Given the description of an element on the screen output the (x, y) to click on. 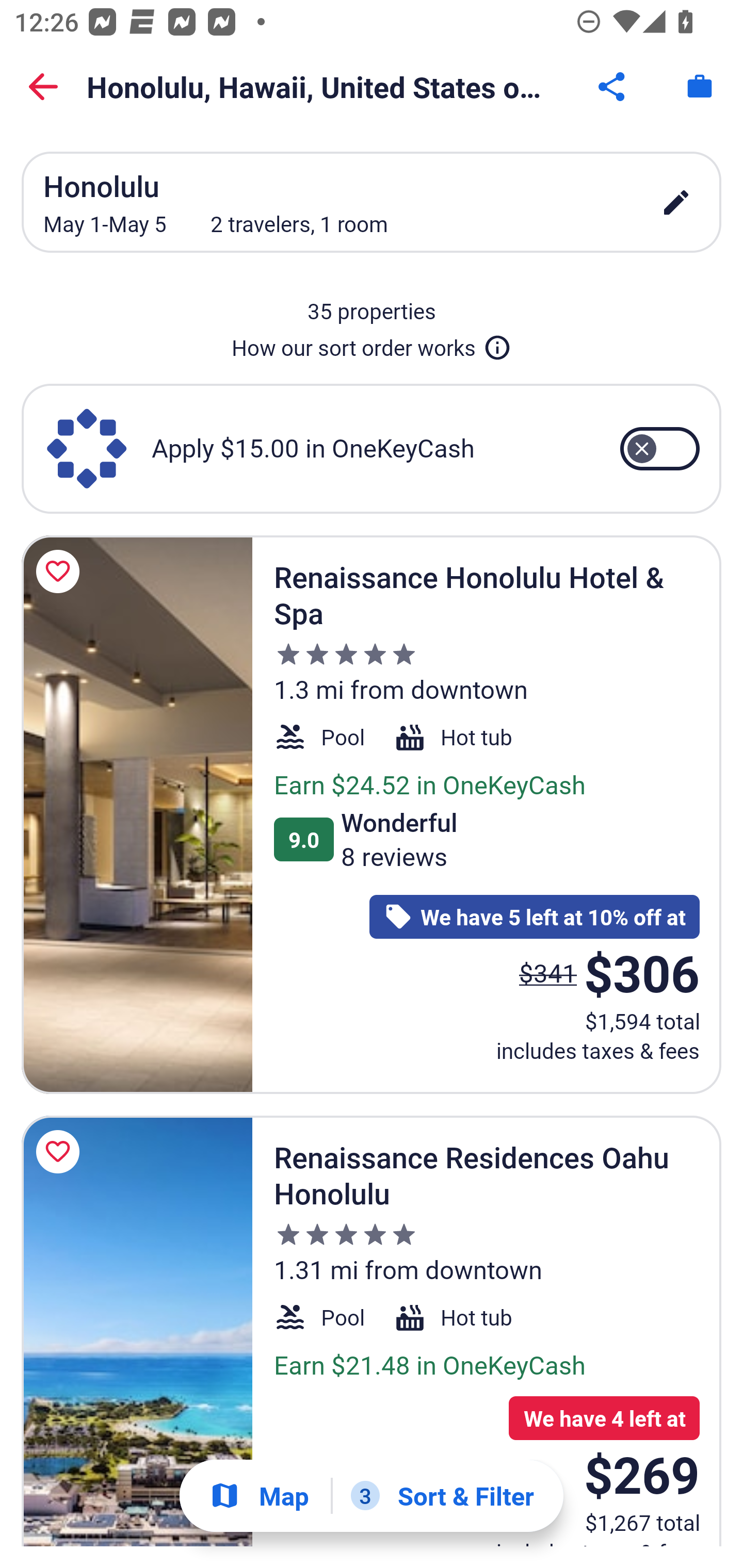
Back (43, 86)
Share Button (612, 86)
Trips. Button (699, 86)
Honolulu May 1-May 5 2 travelers, 1 room edit (371, 202)
How our sort order works (371, 344)
Save Renaissance Honolulu Hotel & Spa to a trip (61, 571)
Renaissance Honolulu Hotel & Spa (136, 814)
$341 The price was $341 (547, 972)
Renaissance Residences Oahu Honolulu (136, 1331)
3 Sort & Filter 3 Filters applied. Filters Button (442, 1495)
Show map Map Show map Button (258, 1495)
